Given the description of an element on the screen output the (x, y) to click on. 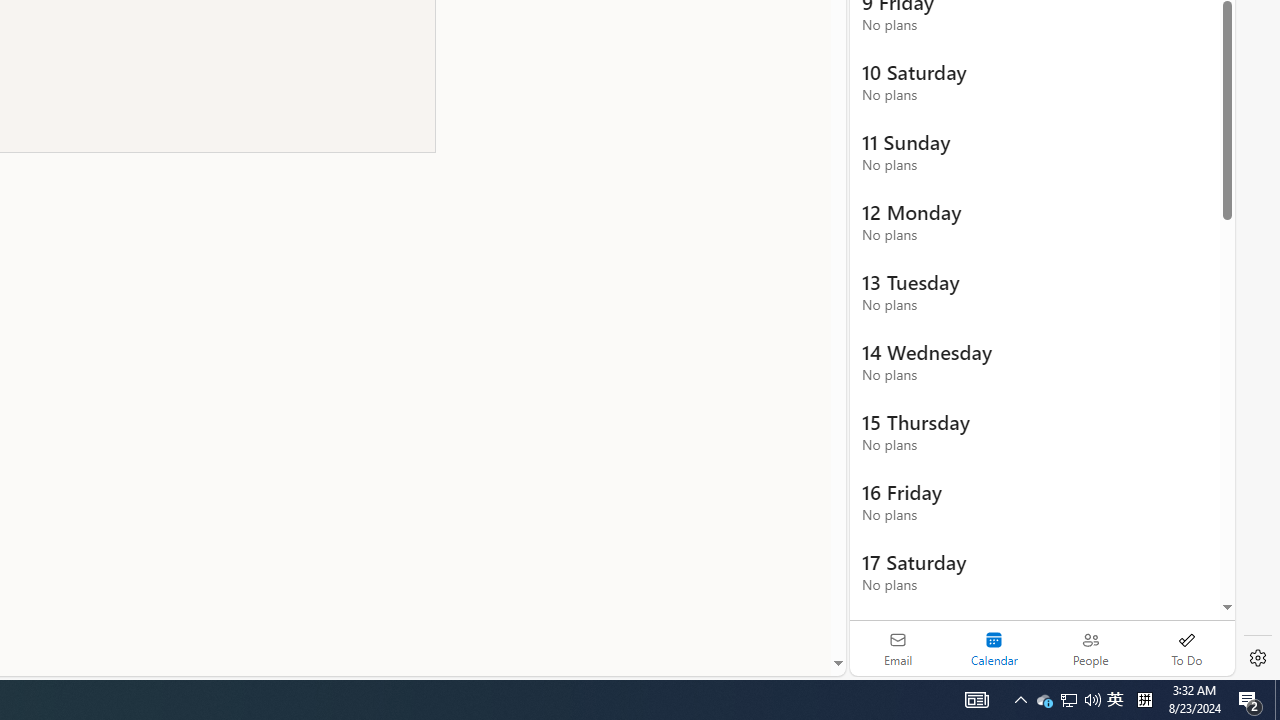
Email (898, 648)
People (1090, 648)
To Do (1186, 648)
Selected calendar module. Date today is 22 (994, 648)
